Given the description of an element on the screen output the (x, y) to click on. 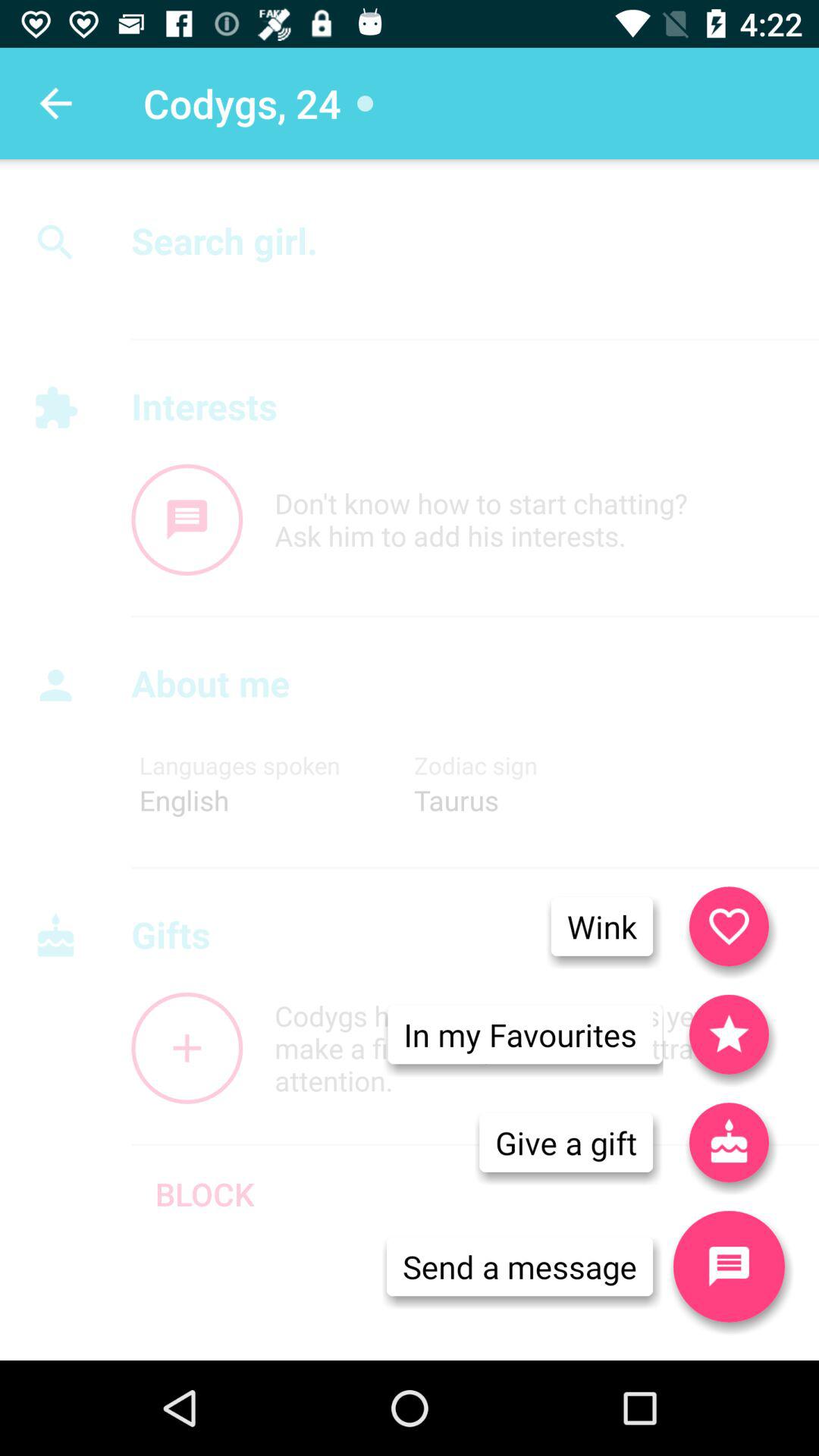
launch the send a message item (519, 1266)
